Given the description of an element on the screen output the (x, y) to click on. 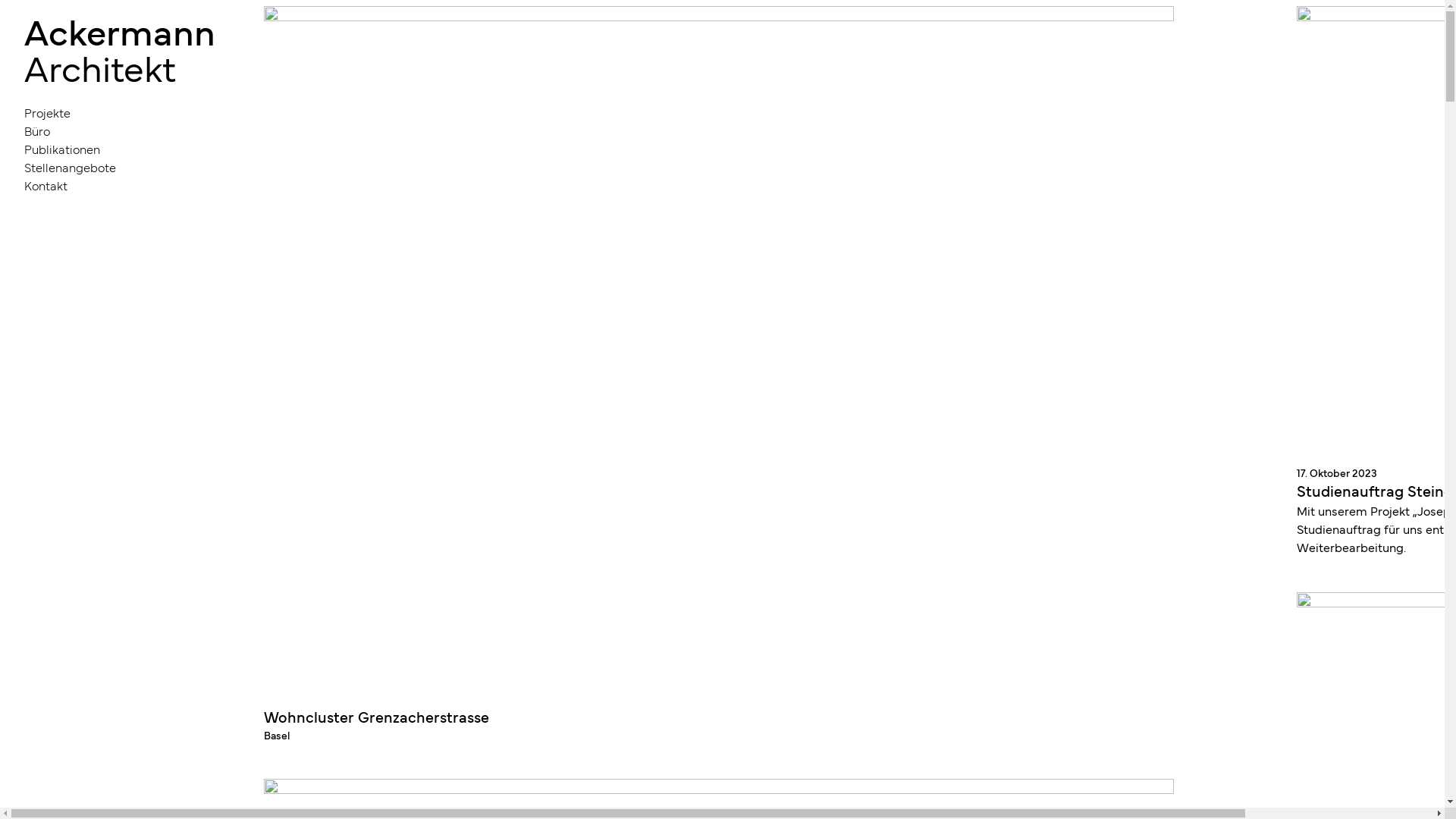
Stellenangebote Element type: text (119, 166)
Kontakt Element type: text (119, 184)
Projekte Element type: text (119, 112)
Ackermann
Architekt Element type: text (119, 47)
Publikationen Element type: text (119, 148)
